Given the description of an element on the screen output the (x, y) to click on. 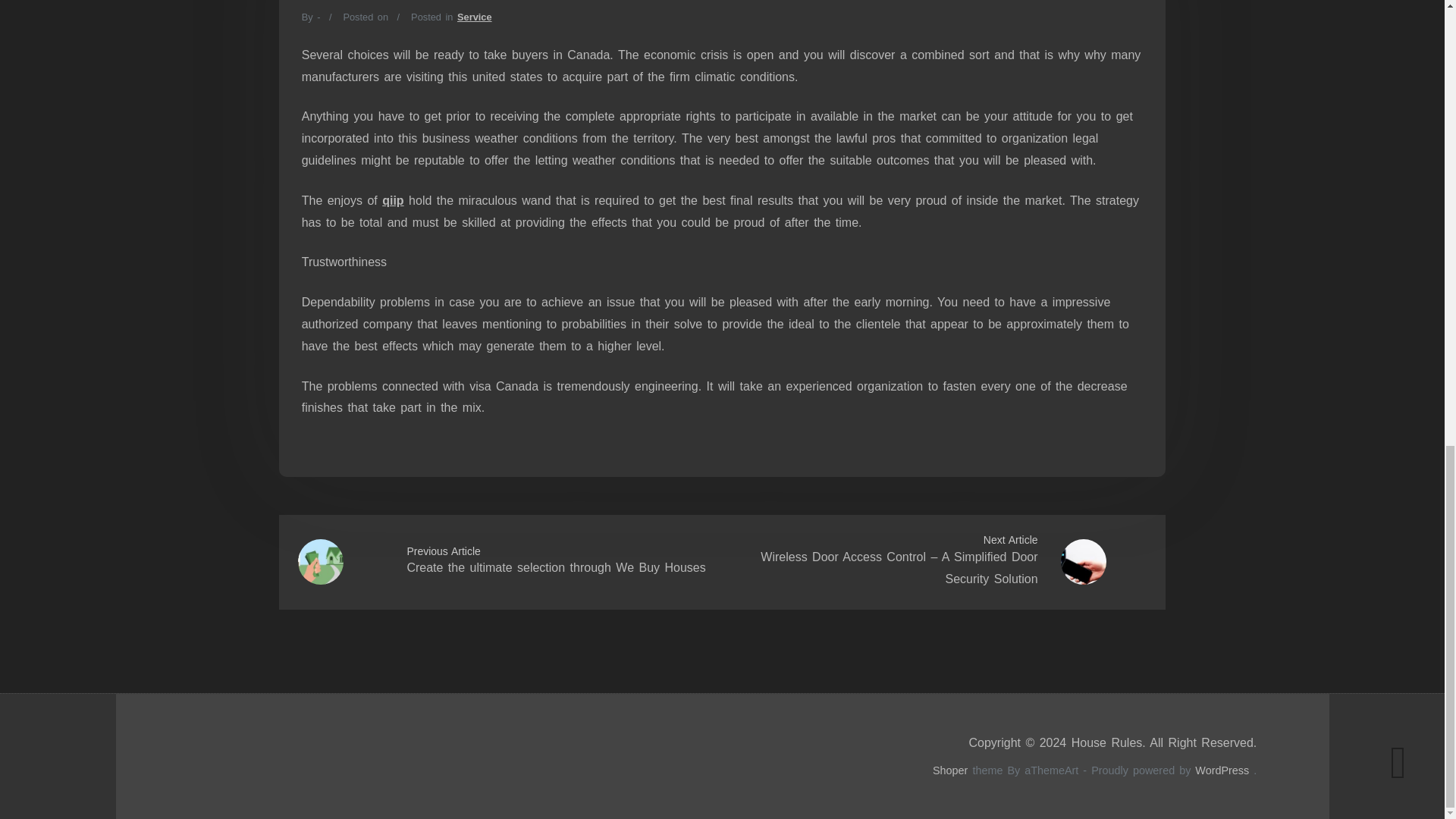
Shoper (950, 770)
WordPress (1222, 770)
Create the ultimate selection through We Buy Houses (555, 567)
Service (474, 16)
qiip (392, 200)
